Given the description of an element on the screen output the (x, y) to click on. 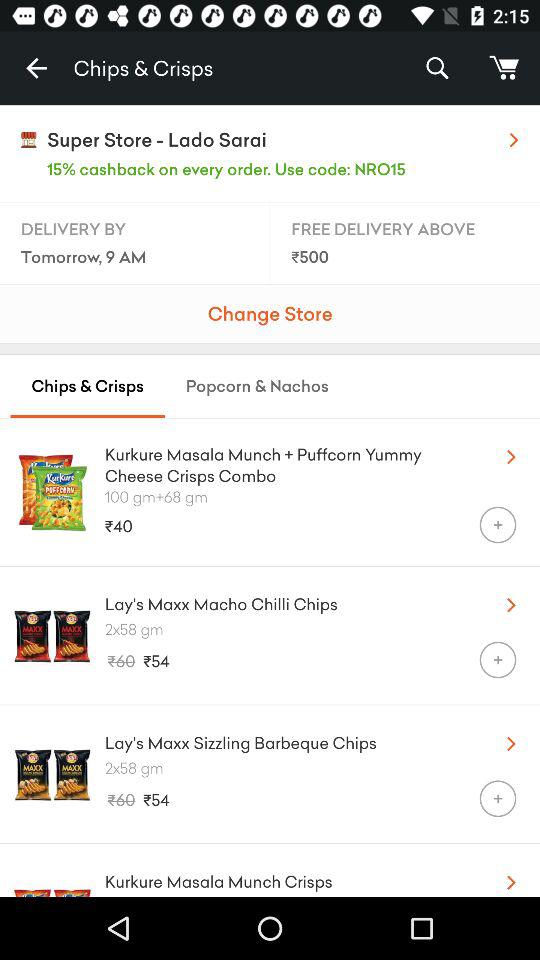
choose the icon to the right of chips & crisps (436, 67)
